Given the description of an element on the screen output the (x, y) to click on. 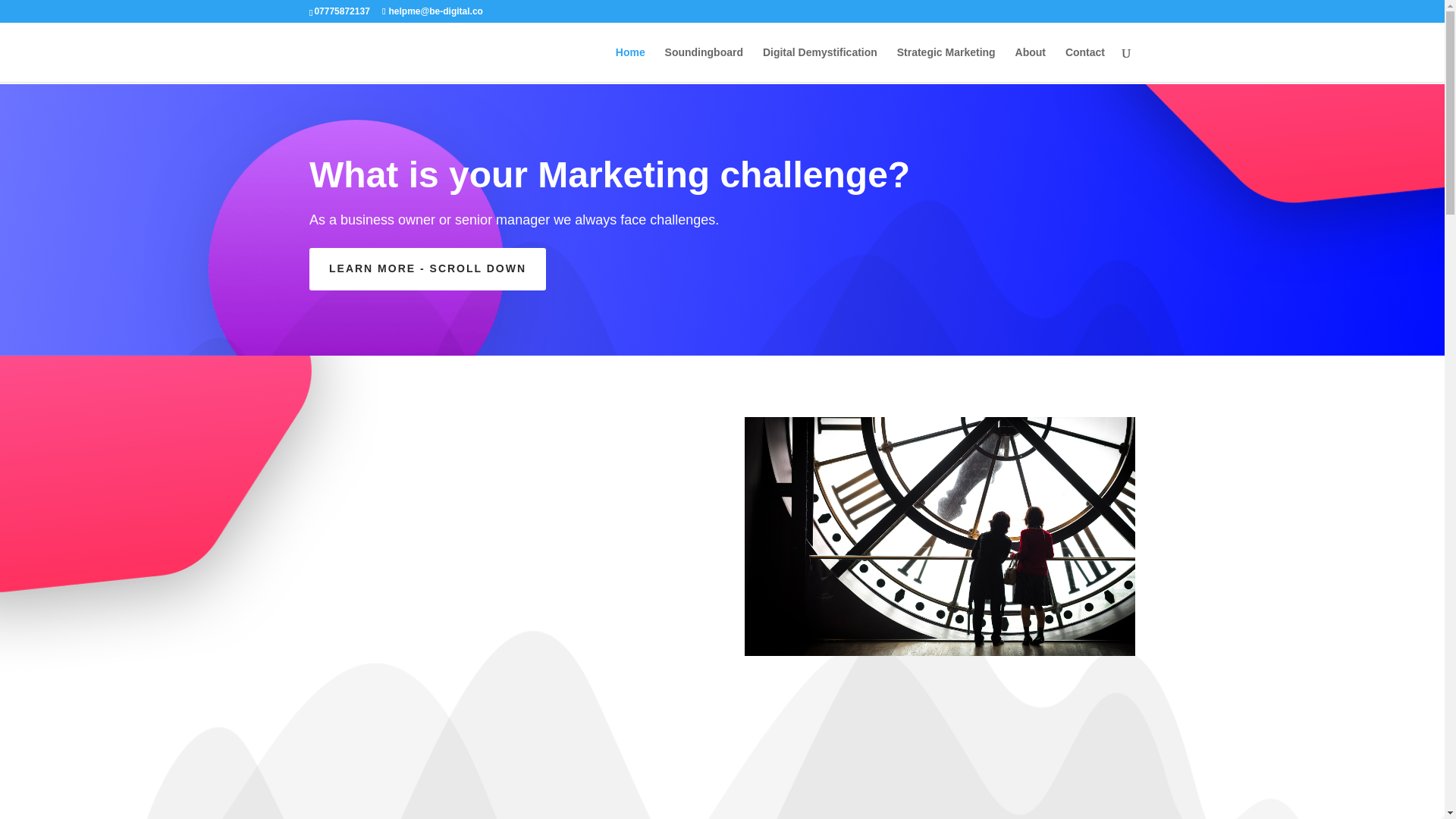
Soundingboard (703, 63)
Contact (1085, 63)
LEARN MORE - SCROLL DOWN (427, 269)
Strategic Marketing (945, 63)
Digital Demystification (819, 63)
